Given the description of an element on the screen output the (x, y) to click on. 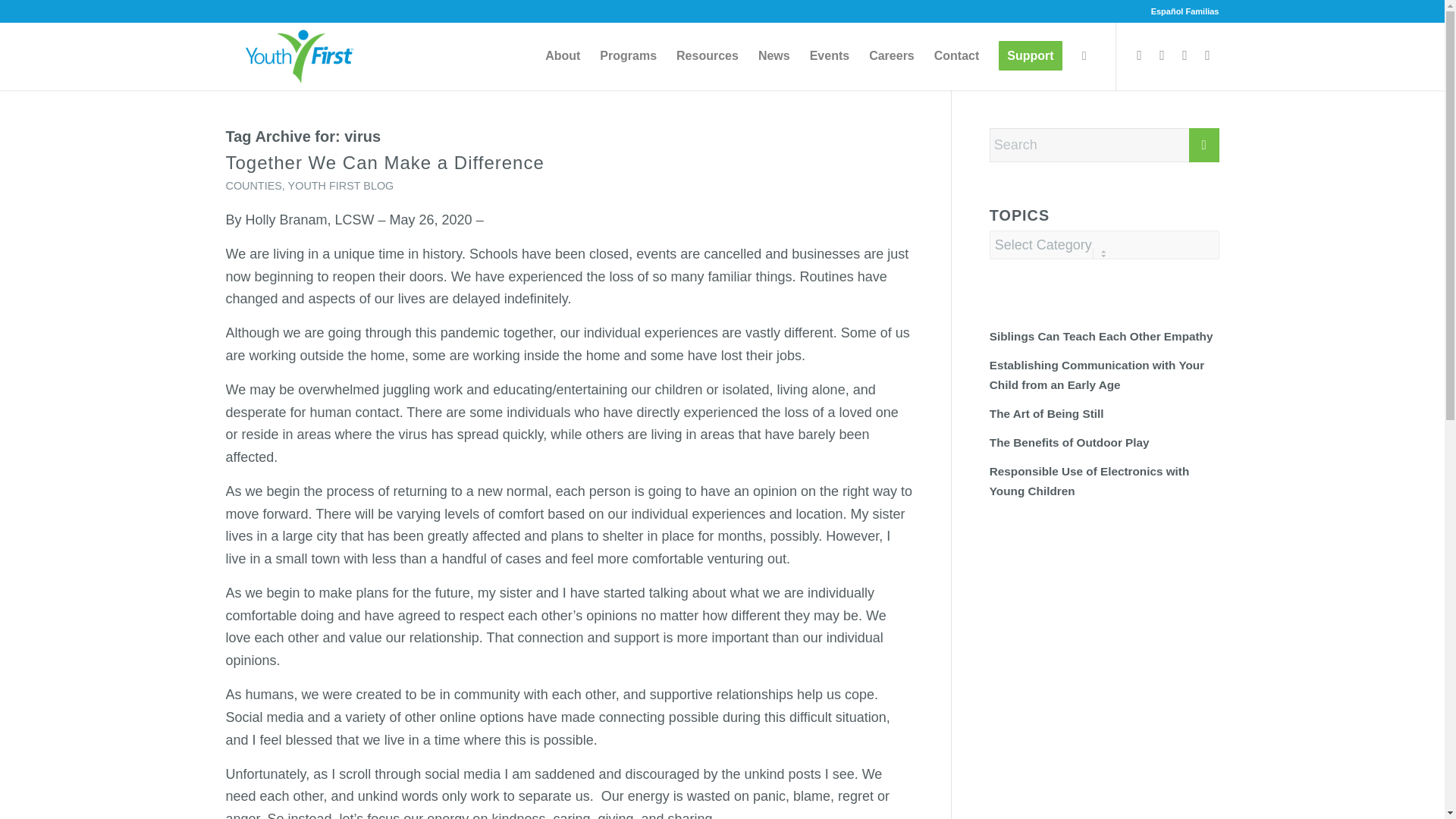
Facebook (1139, 55)
Instagram (1184, 55)
Programs (627, 56)
X (1162, 55)
Permanent Link: Together We Can Make a Difference (384, 162)
Read: The Art of Being Still (1046, 413)
Read: Siblings Can Teach Each Other Empathy (1101, 336)
Youtube (1208, 55)
